Given the description of an element on the screen output the (x, y) to click on. 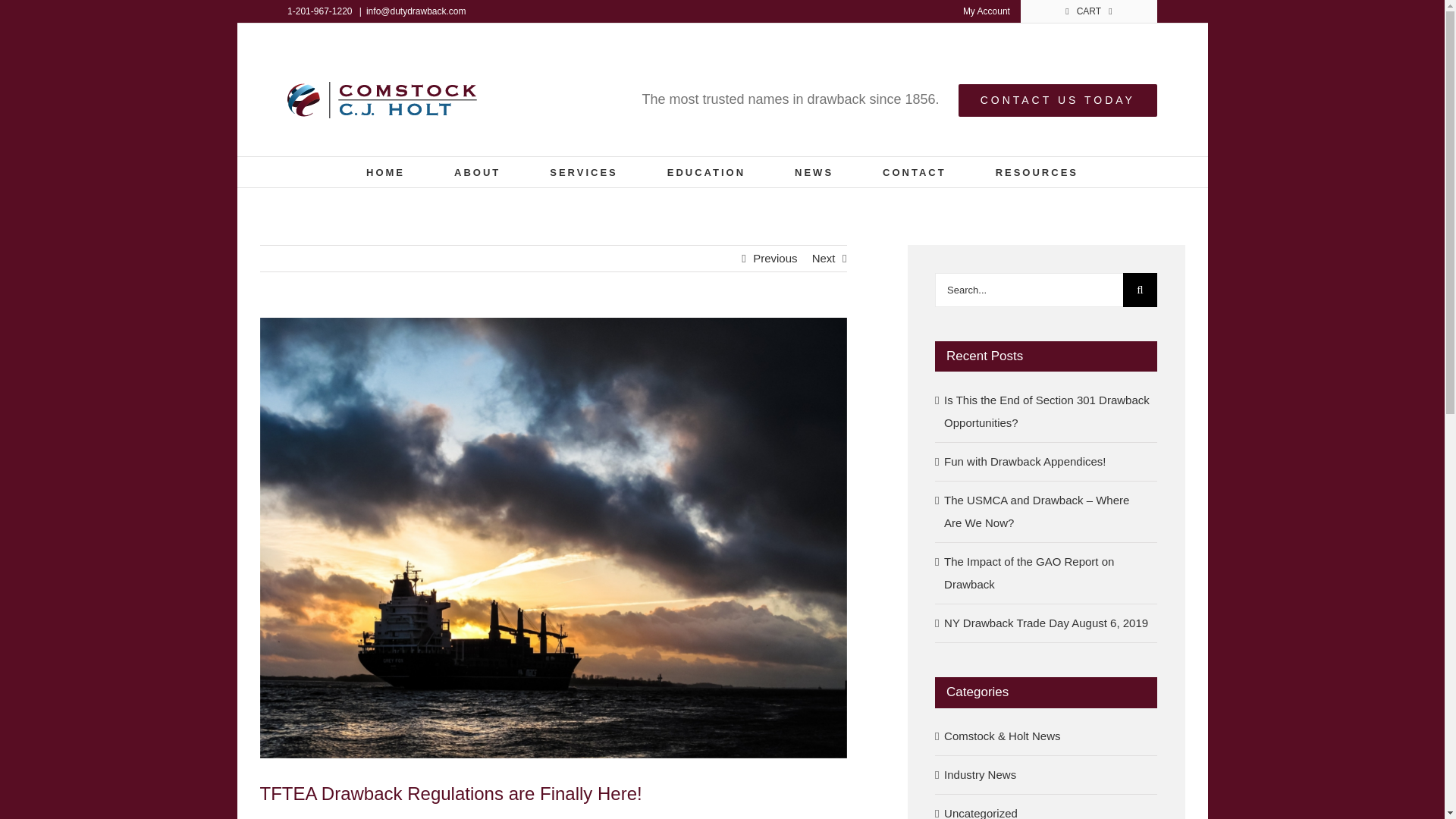
ABOUT (477, 172)
My Account (986, 11)
CART (1088, 11)
EDUCATION (705, 172)
CONTACT US TODAY (1057, 100)
CONTACT (914, 172)
HOME (385, 172)
NEWS (813, 172)
SERVICES (583, 172)
Log In (1034, 158)
RESOURCES (1036, 172)
